Given the description of an element on the screen output the (x, y) to click on. 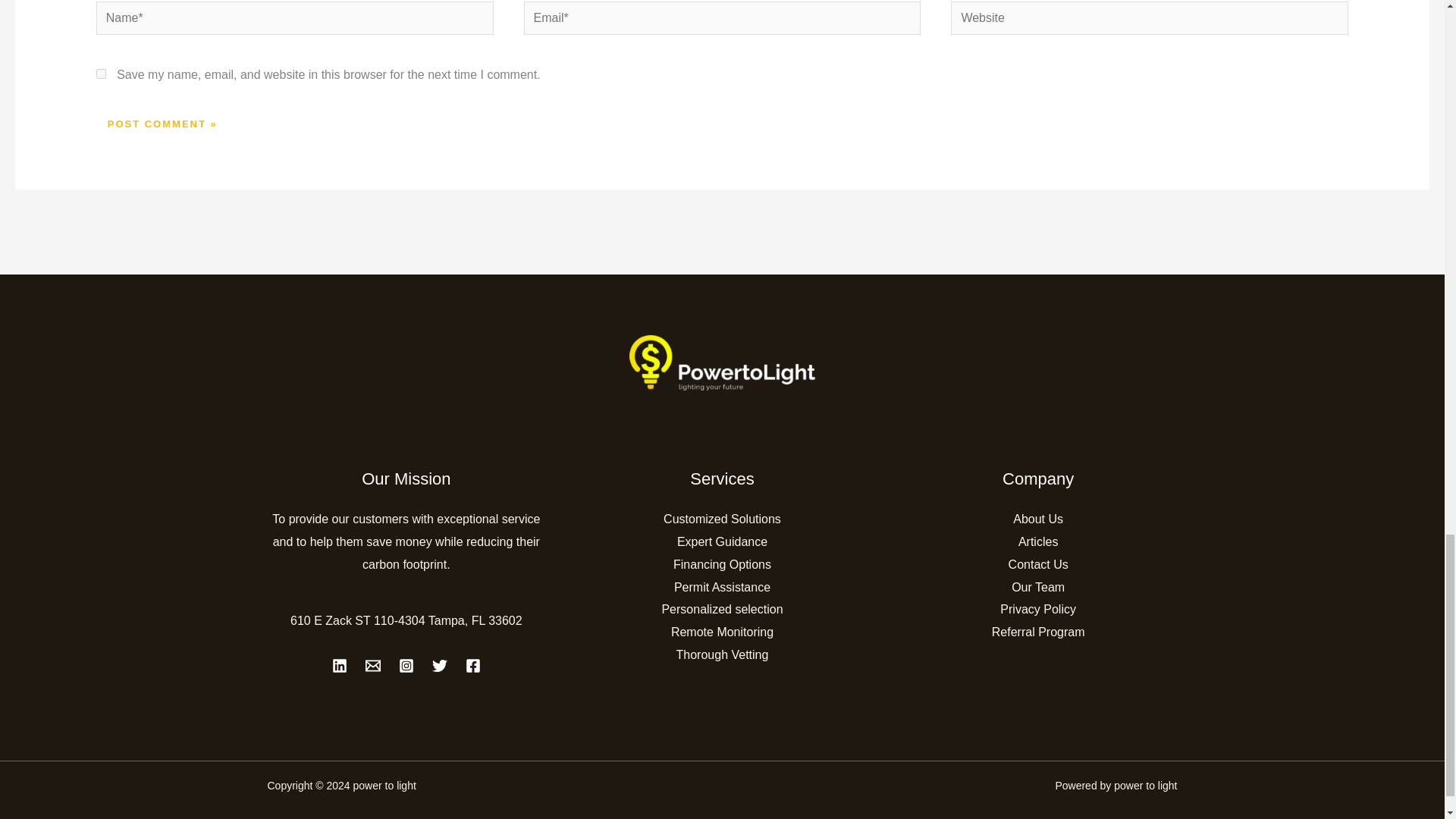
Financing Options (721, 563)
Permit Assistance (722, 586)
Expert Guidance (722, 541)
About Us (1037, 518)
Customized Solutions (721, 518)
Articles (1037, 541)
Remote Monitoring (722, 631)
Personalized selection (722, 608)
yes (101, 73)
Thorough Vetting (722, 654)
